Given the description of an element on the screen output the (x, y) to click on. 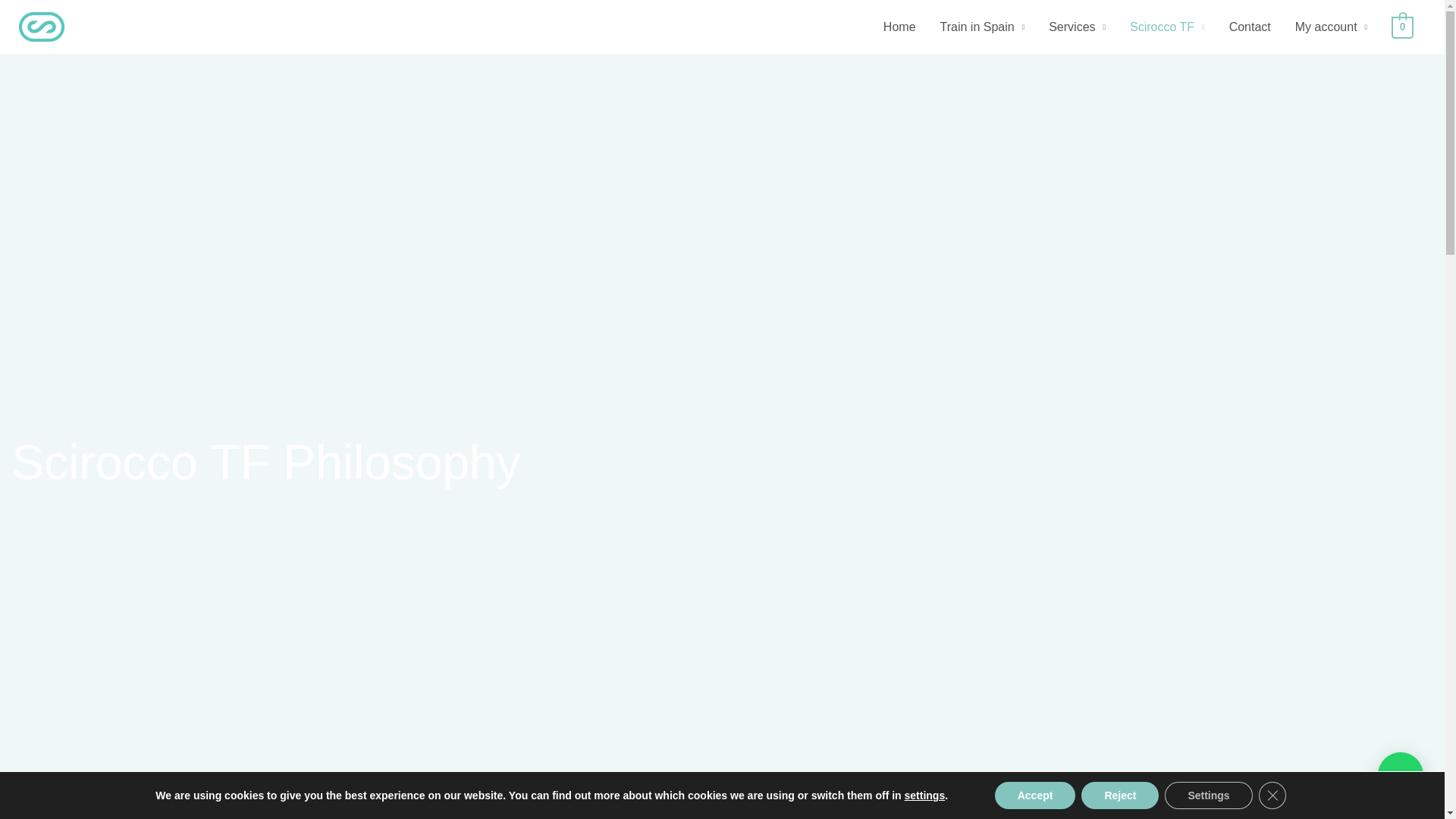
Train in Spain (982, 27)
Services (1077, 27)
Scirocco TF (1167, 27)
Contact (1249, 27)
My account (1330, 27)
Home (899, 27)
